Given the description of an element on the screen output the (x, y) to click on. 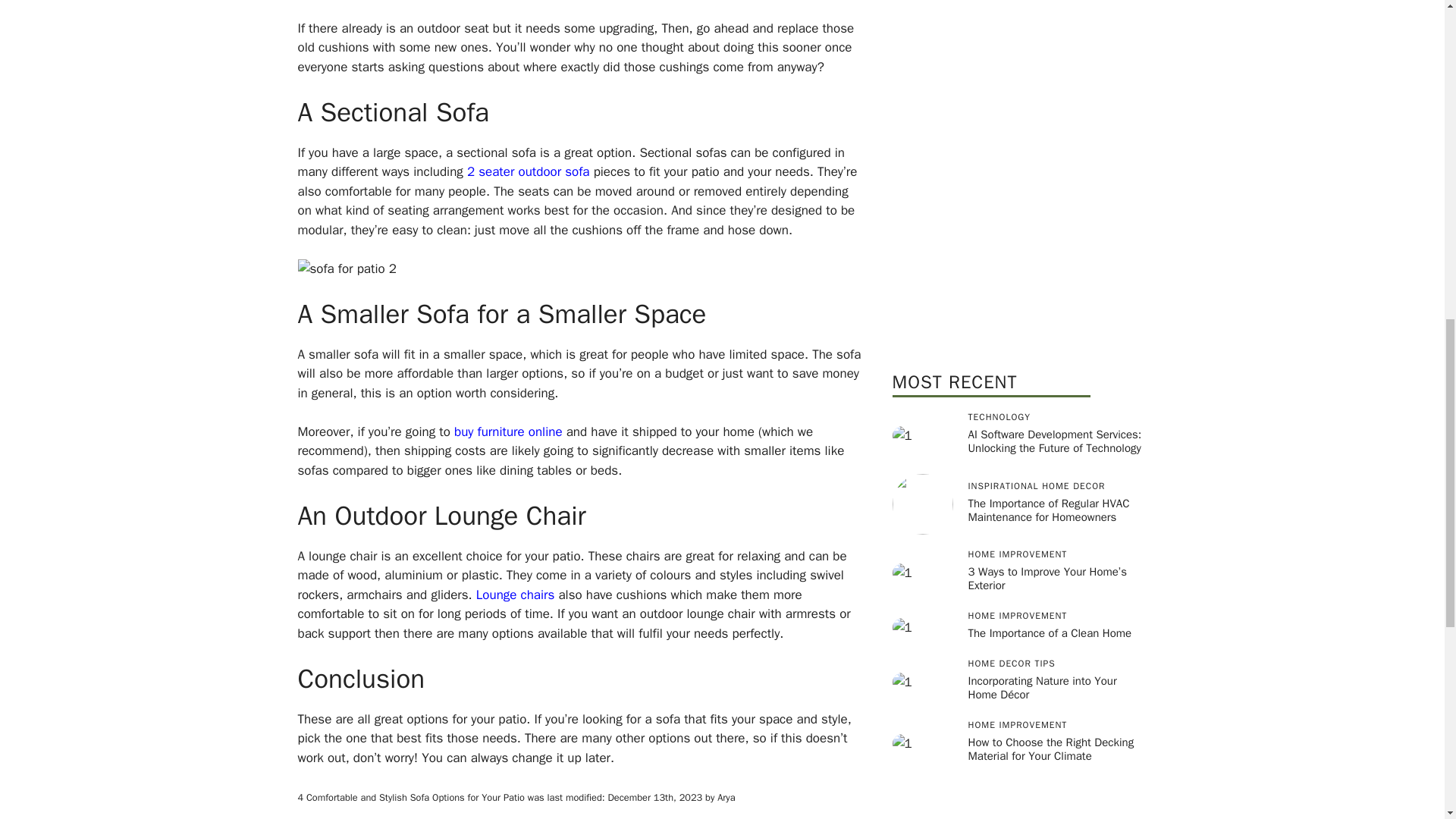
Residence Style (1019, 181)
Scroll back to top (1406, 720)
